Given the description of an element on the screen output the (x, y) to click on. 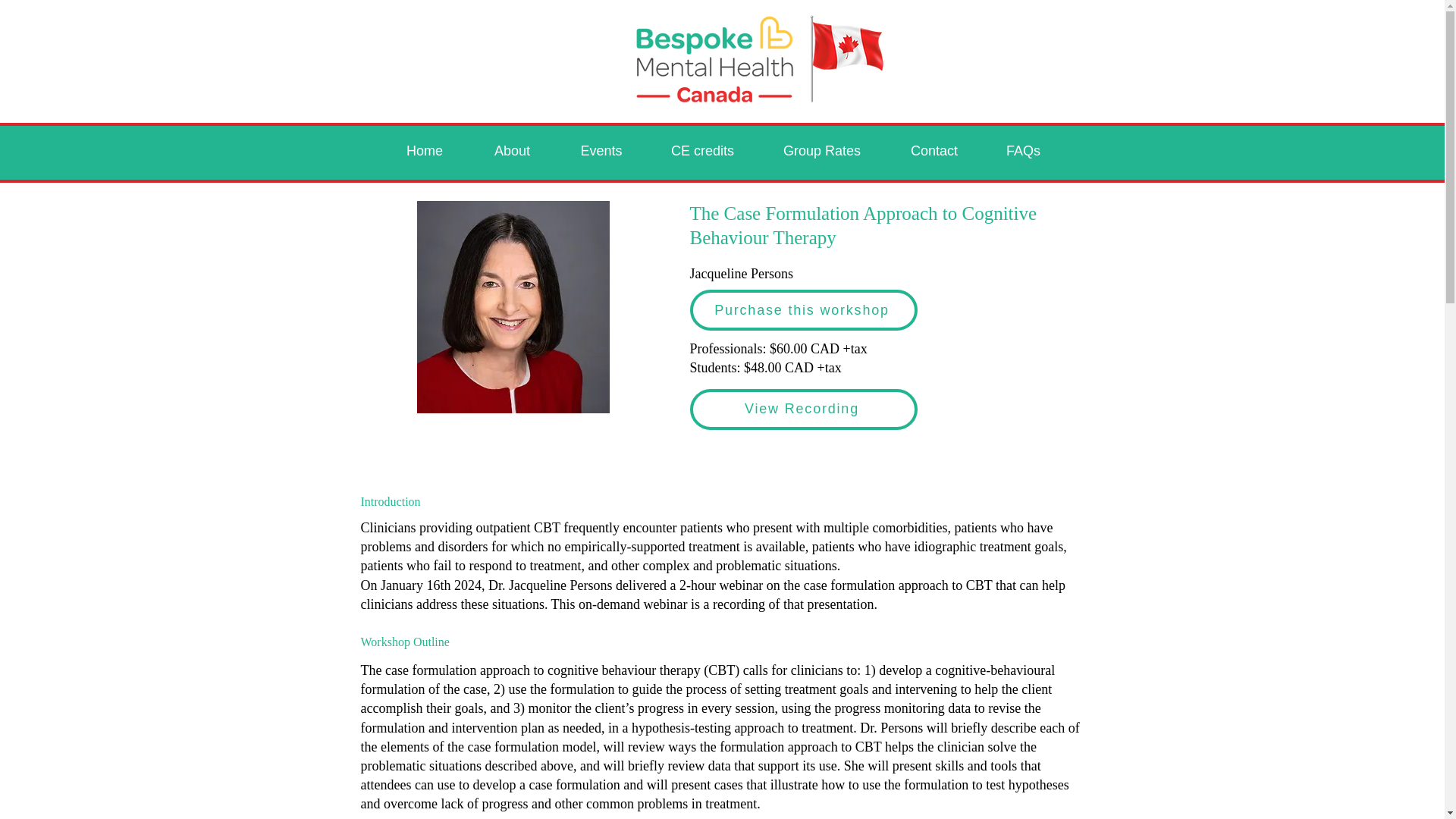
The Case Formulation Approach to Cognitive Behaviour Therapy (512, 306)
Purchase this workshop (803, 309)
Home (423, 150)
Group Rates (821, 150)
FAQs (1023, 150)
CE credits (701, 150)
About (512, 150)
Canada Logo v3-01.png (758, 59)
View Recording (803, 409)
Contact (933, 150)
